Given the description of an element on the screen output the (x, y) to click on. 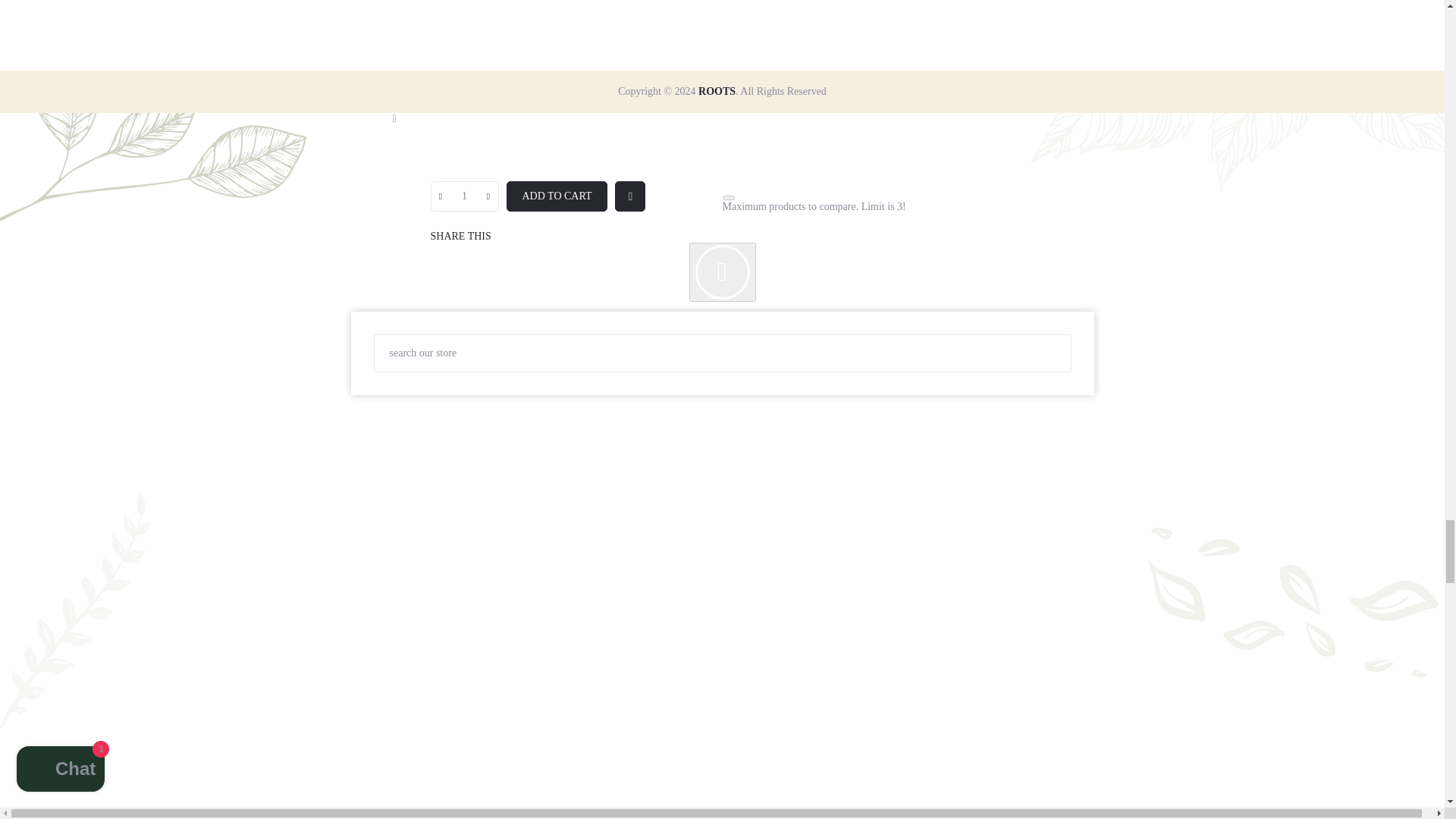
1 (464, 195)
